Given the description of an element on the screen output the (x, y) to click on. 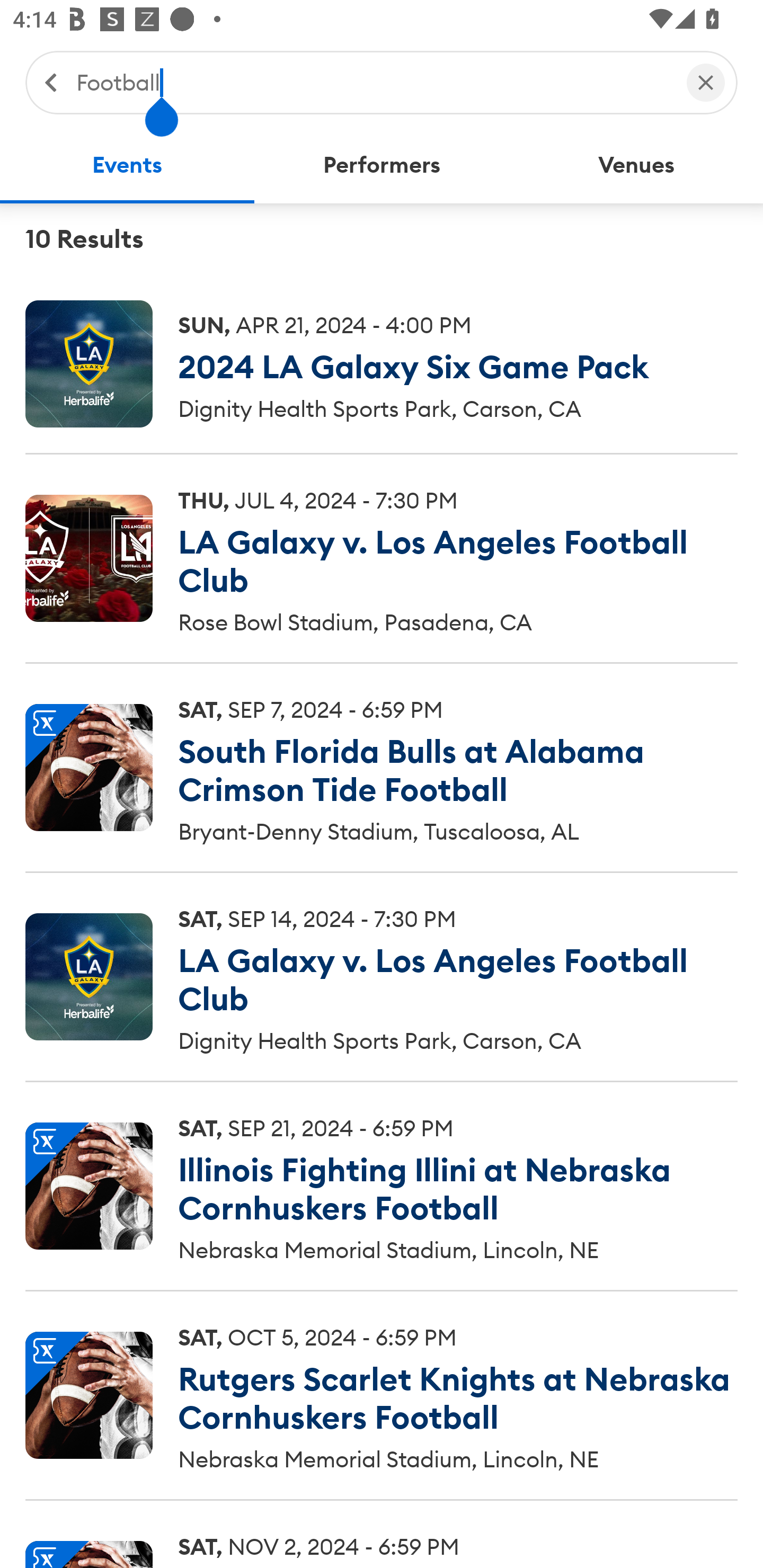
Football (371, 81)
Clear Search (705, 81)
Performers (381, 165)
Venues (635, 165)
